Given the description of an element on the screen output the (x, y) to click on. 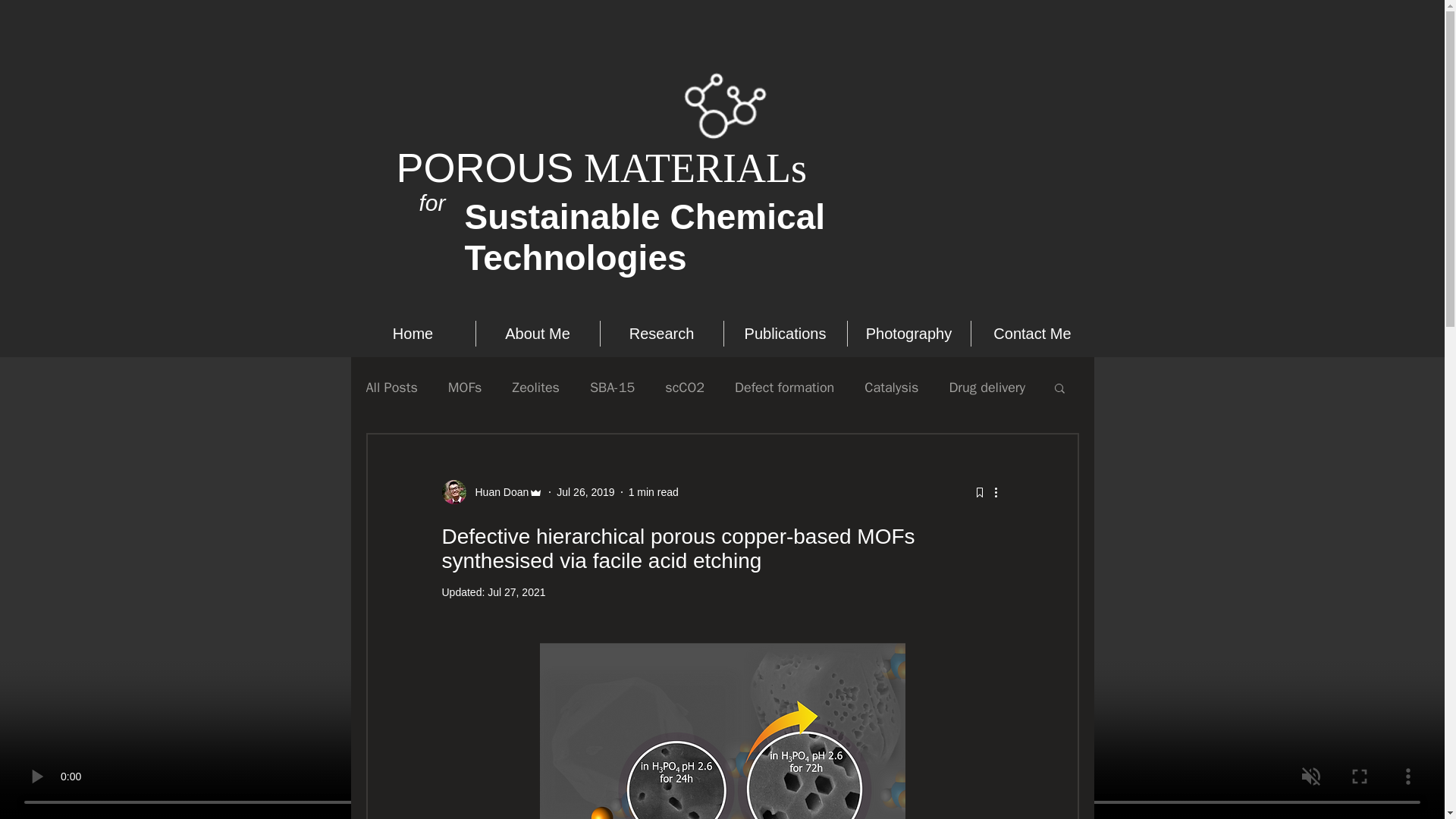
MOFs (464, 387)
Defect formation (784, 387)
All Posts (390, 387)
Home (412, 333)
1 min read (653, 491)
Photography (909, 333)
Huan Doan (496, 491)
scCO2 (684, 387)
Jul 27, 2021 (515, 592)
Catalysis (891, 387)
Drug delivery (987, 387)
Contact Me (1032, 333)
Research (661, 333)
Publications (784, 333)
Zeolites (535, 387)
